Given the description of an element on the screen output the (x, y) to click on. 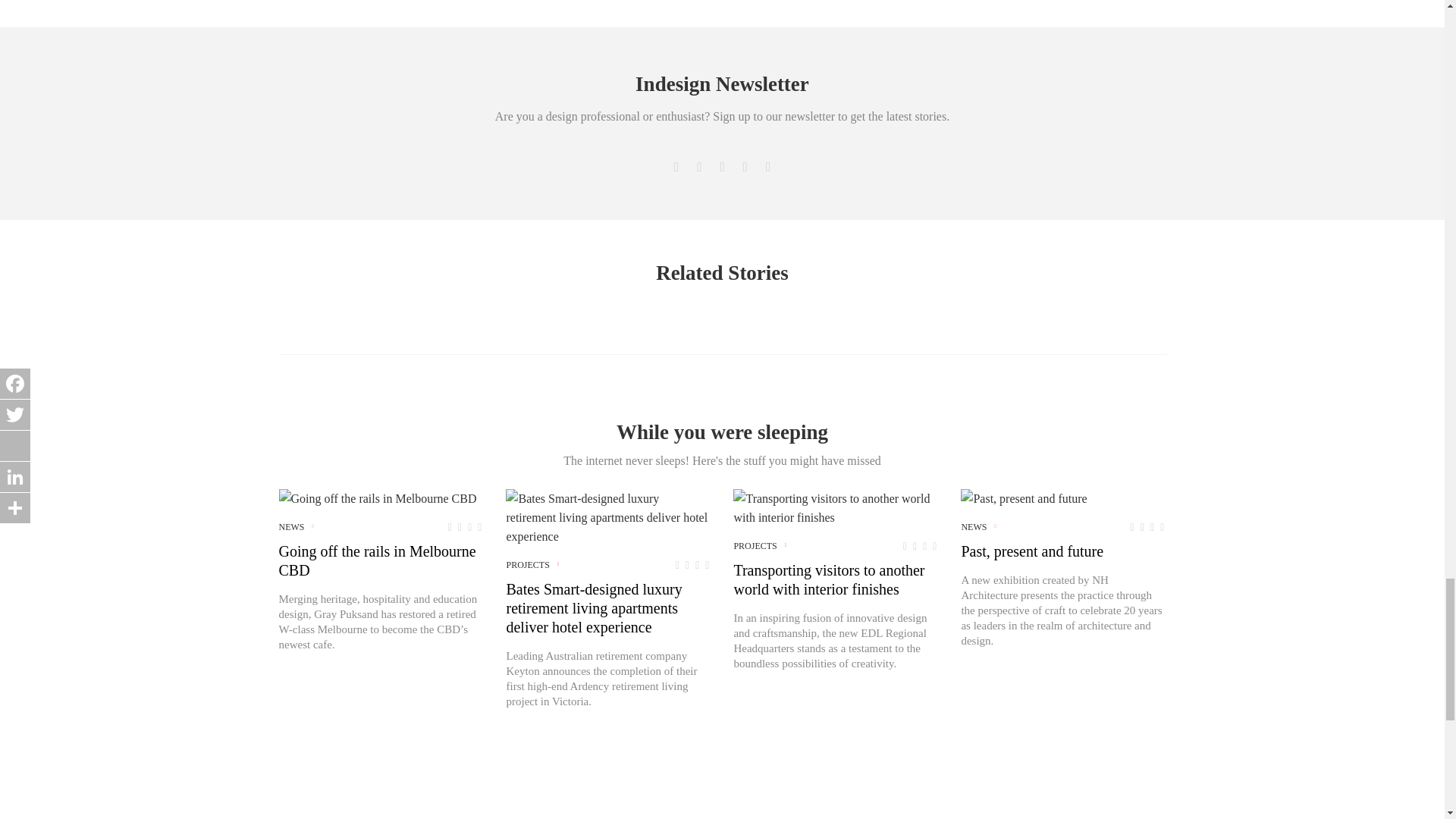
Past, present and future (1023, 497)
Going off the rails in Melbourne CBD (378, 497)
